Given the description of an element on the screen output the (x, y) to click on. 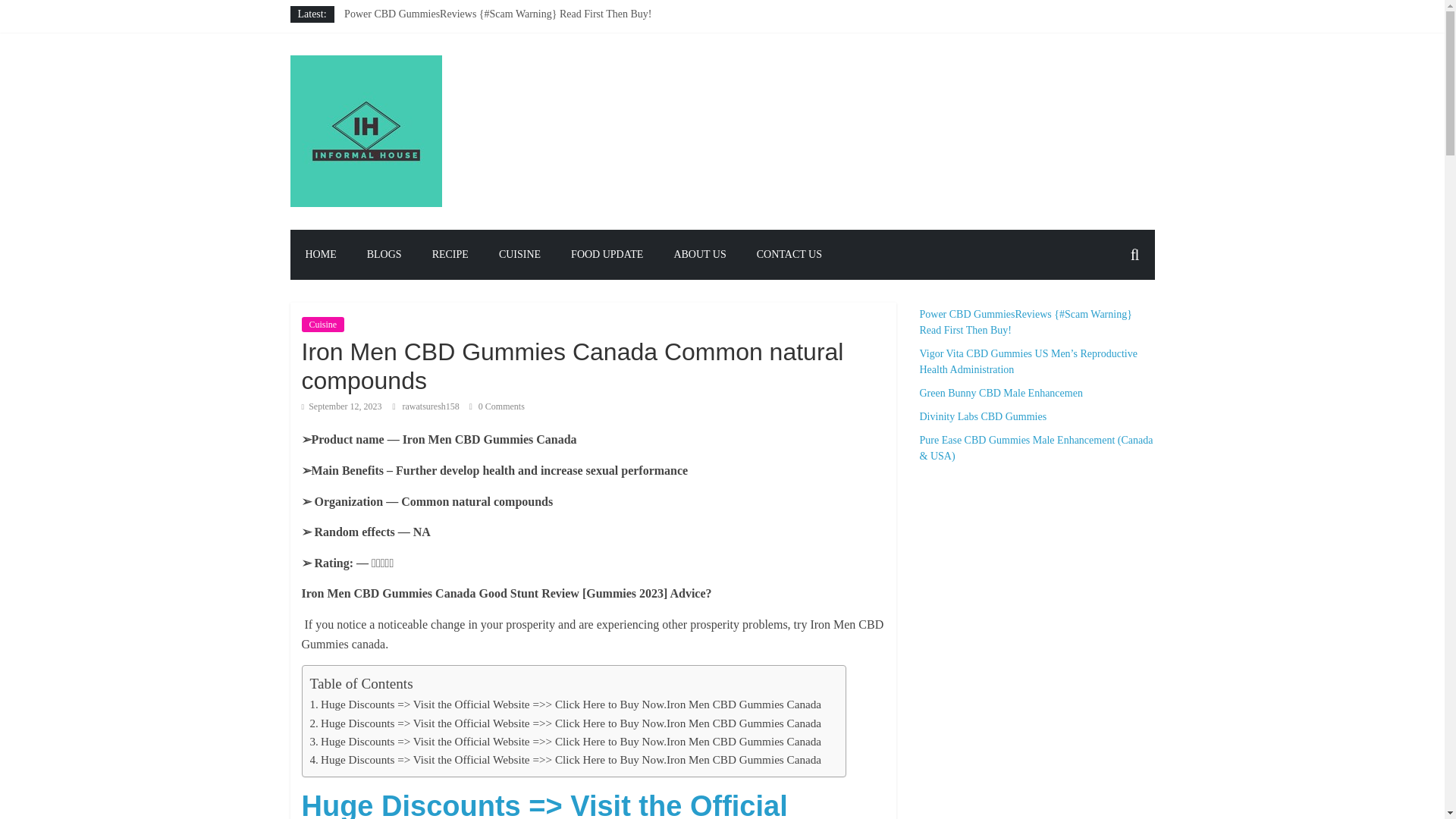
Divinity Labs CBD Gummies (407, 64)
ABOUT US (699, 255)
BLOGS (384, 255)
0 Comments (496, 406)
CUISINE (519, 255)
Green Bunny CBD Male Enhancemen (424, 48)
Cuisine (323, 324)
7:06 am (341, 406)
RECIPE (449, 255)
FOOD UPDATE (607, 255)
